Given the description of an element on the screen output the (x, y) to click on. 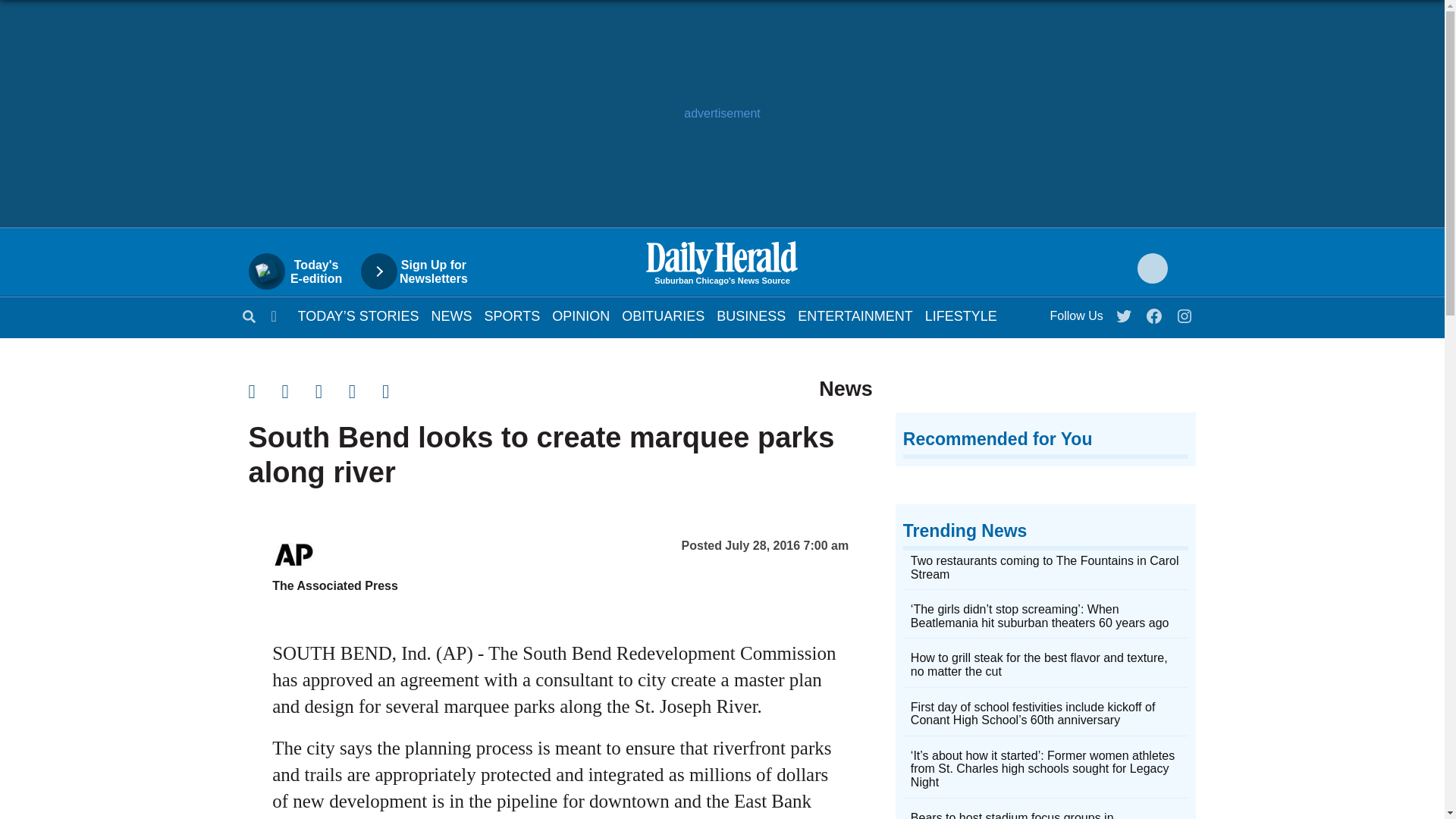
ENTERTAINMENT (854, 315)
BUSINESS (751, 315)
Business (751, 315)
Instagram (1184, 312)
Sports (512, 315)
NEWS (450, 315)
Facebook (1155, 312)
Twitter (1124, 312)
Entertainment (854, 315)
Opinion (580, 315)
